Given the description of an element on the screen output the (x, y) to click on. 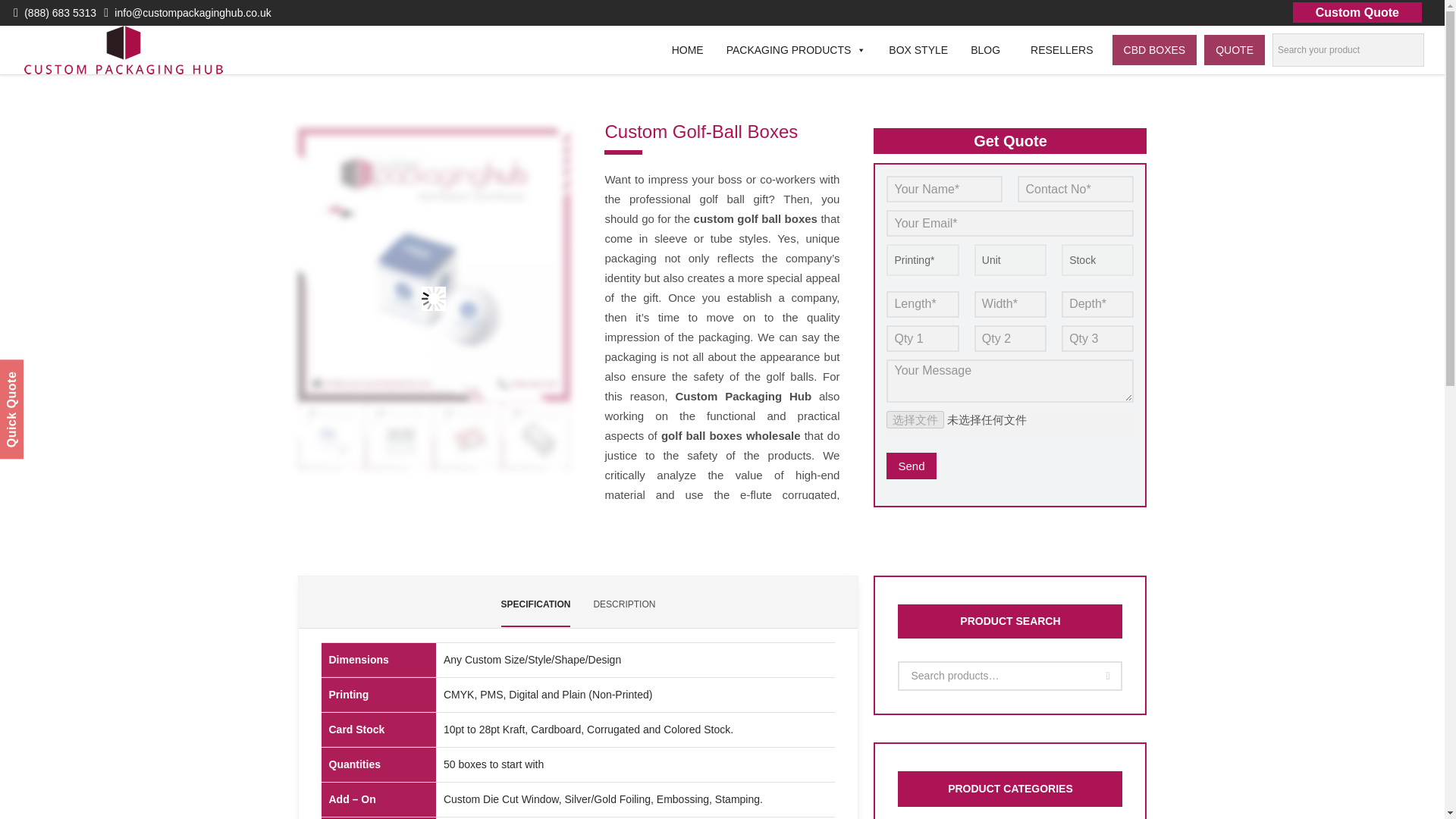
Custom Packaging Hub (122, 49)
Send (911, 465)
